Given the description of an element on the screen output the (x, y) to click on. 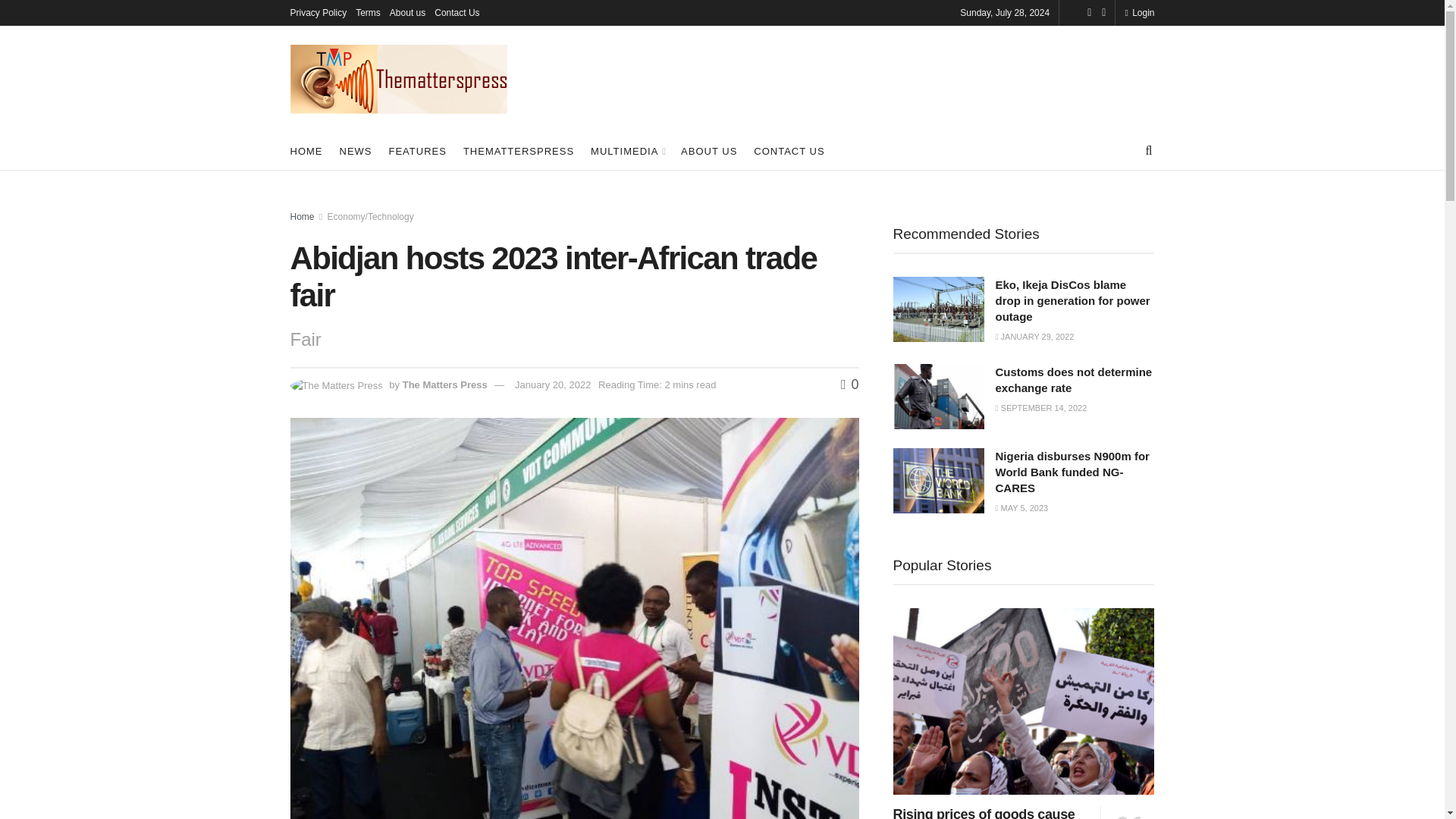
The Matters Press (445, 384)
Home (301, 216)
CONTACT US (789, 150)
Login (1139, 12)
NEWS (355, 150)
HOME (305, 150)
About us (407, 12)
Privacy Policy (317, 12)
Contact Us (456, 12)
THEMATTERSPRESS (518, 150)
ABOUT US (708, 150)
FEATURES (416, 150)
MULTIMEDIA (627, 150)
January 20, 2022 (553, 384)
Terms (367, 12)
